Given the description of an element on the screen output the (x, y) to click on. 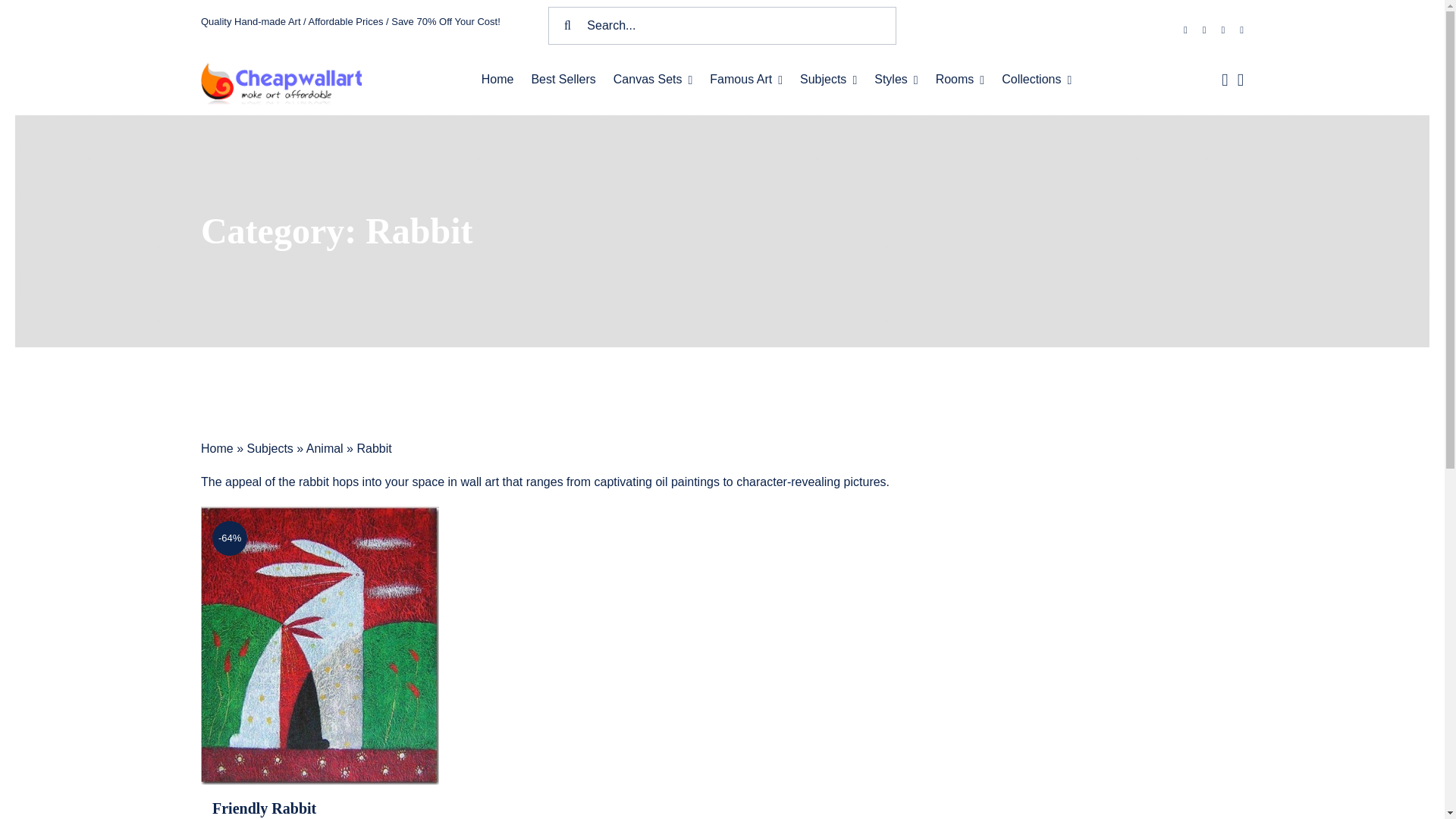
Famous Art (746, 79)
Home (497, 79)
Subjects (828, 79)
Best Sellers (563, 79)
Canvas Sets (652, 79)
